Given the description of an element on the screen output the (x, y) to click on. 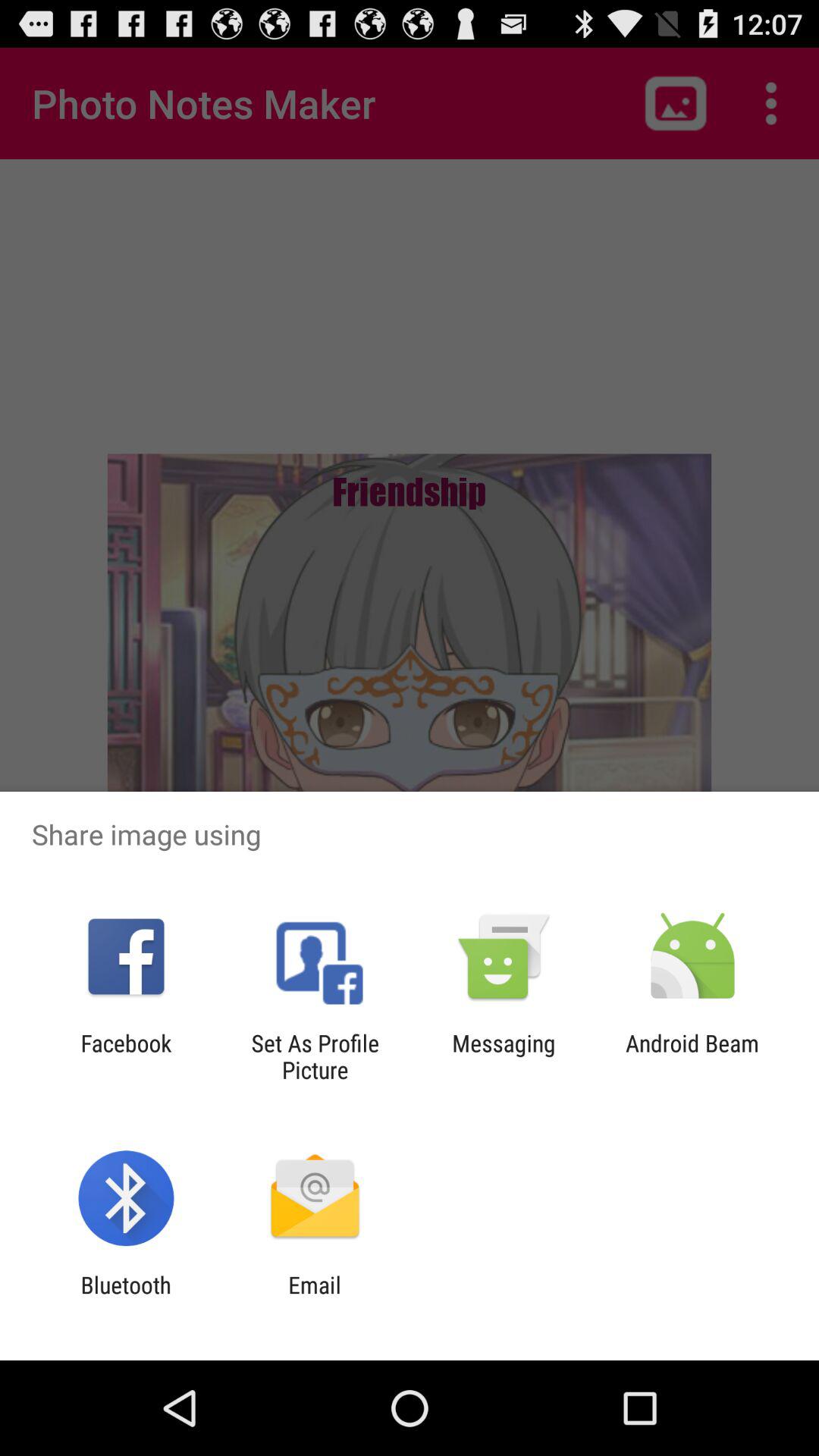
launch item to the right of set as profile item (503, 1056)
